Given the description of an element on the screen output the (x, y) to click on. 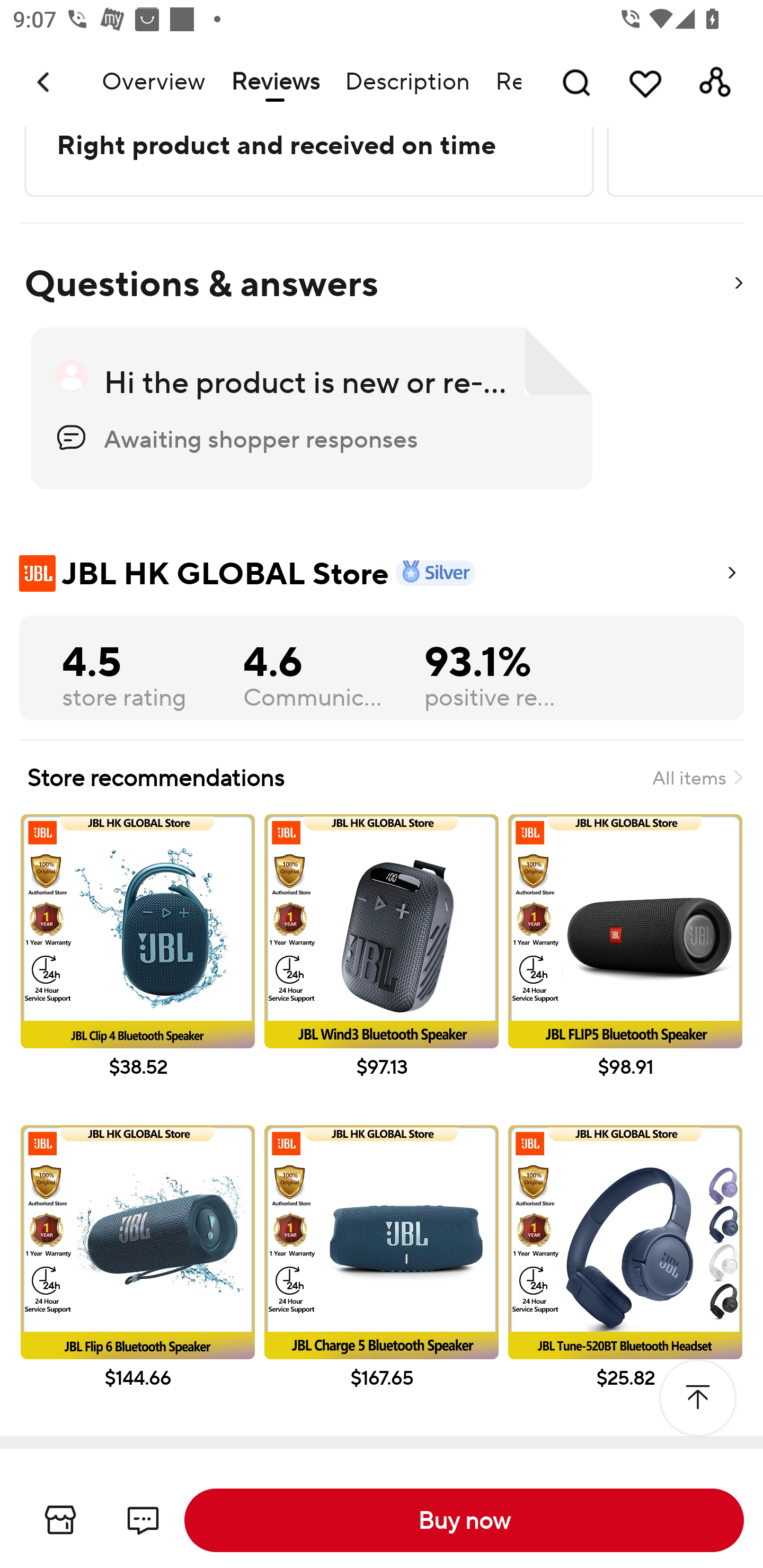
Navigate up (44, 82)
Overview (153, 81)
Description (406, 81)
Right product and received on time (306, 144)
 (737, 283)
All items (697, 777)
$38.52 (137, 963)
$97.13 (381, 963)
$98.91 (625, 963)
$144.66 (137, 1275)
$167.65 (381, 1275)
$25.82 (625, 1275)
 (697, 1397)
Buy now (463, 1520)
